Given the description of an element on the screen output the (x, y) to click on. 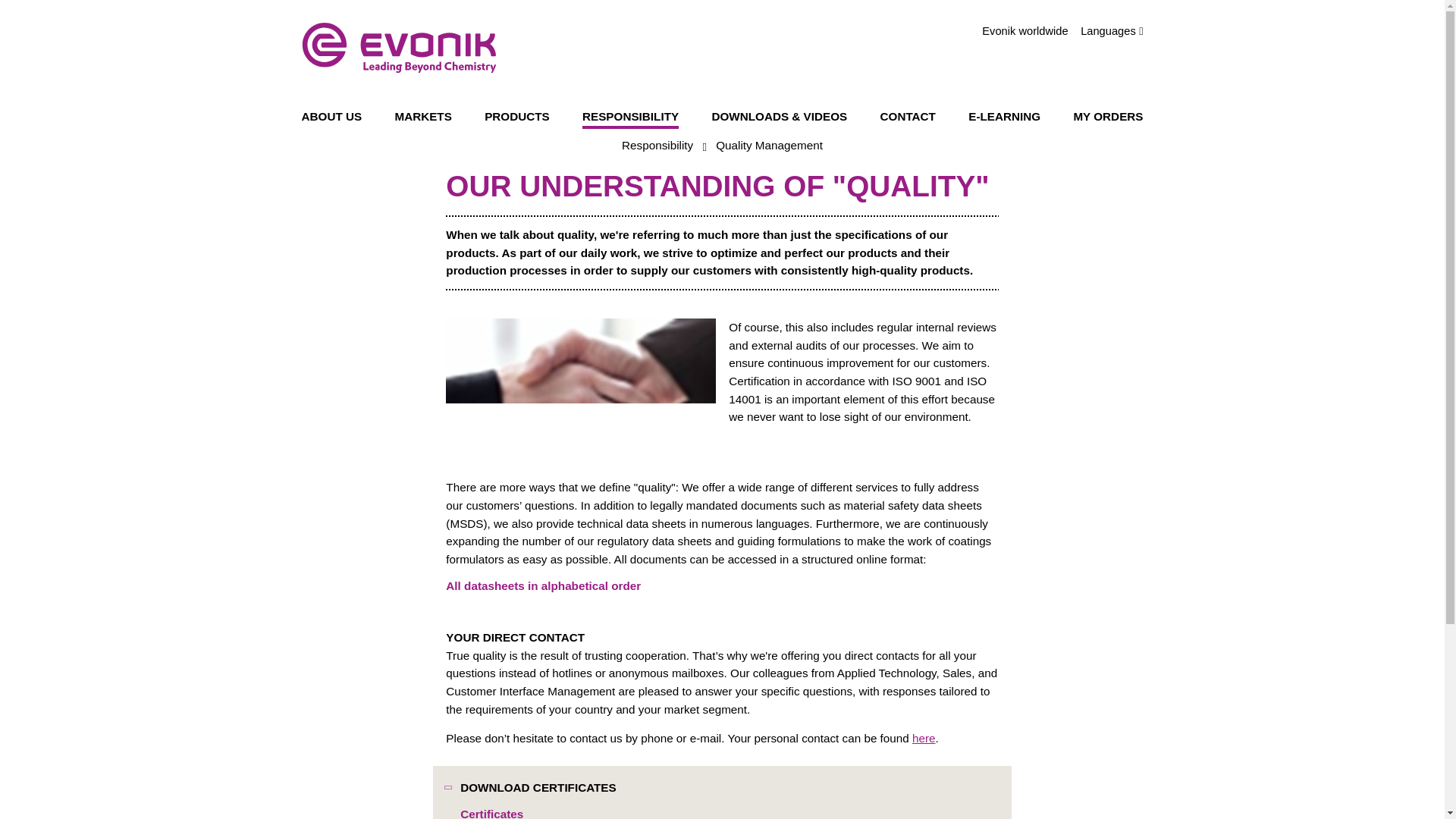
About us (331, 118)
Certificates (491, 812)
Responsibility (657, 147)
Products (517, 118)
E-LEARNING (1004, 118)
PRODUCTS (517, 118)
MARKETS (422, 118)
Evonik worldwide (1024, 31)
Markets (422, 118)
ABOUT US (331, 118)
